Given the description of an element on the screen output the (x, y) to click on. 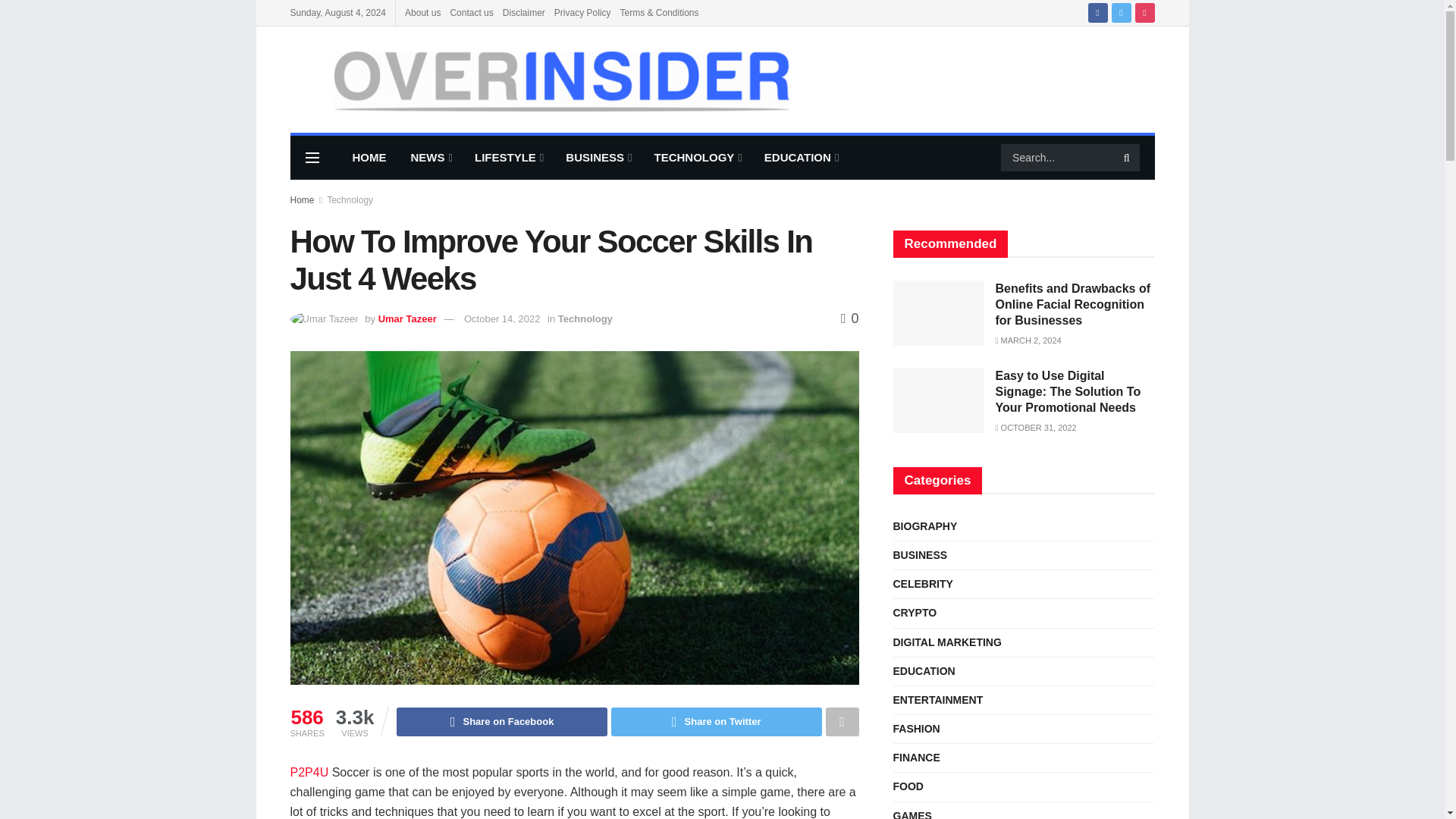
About us (422, 12)
Privacy Policy (582, 12)
Disclaimer (523, 12)
NEWS (430, 157)
LIFESTYLE (508, 157)
HOME (368, 157)
